Given the description of an element on the screen output the (x, y) to click on. 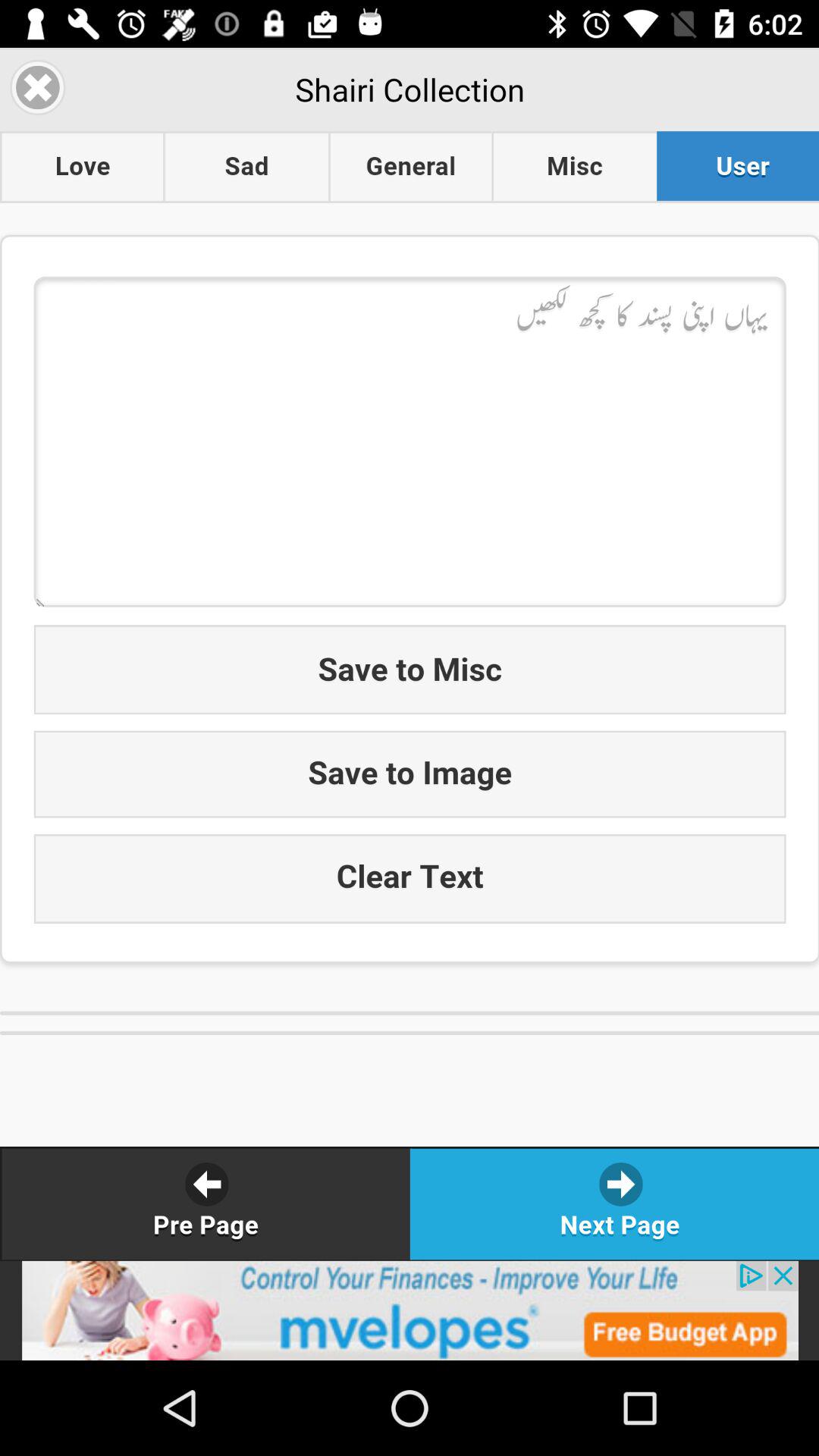
display screen (409, 653)
